Given the description of an element on the screen output the (x, y) to click on. 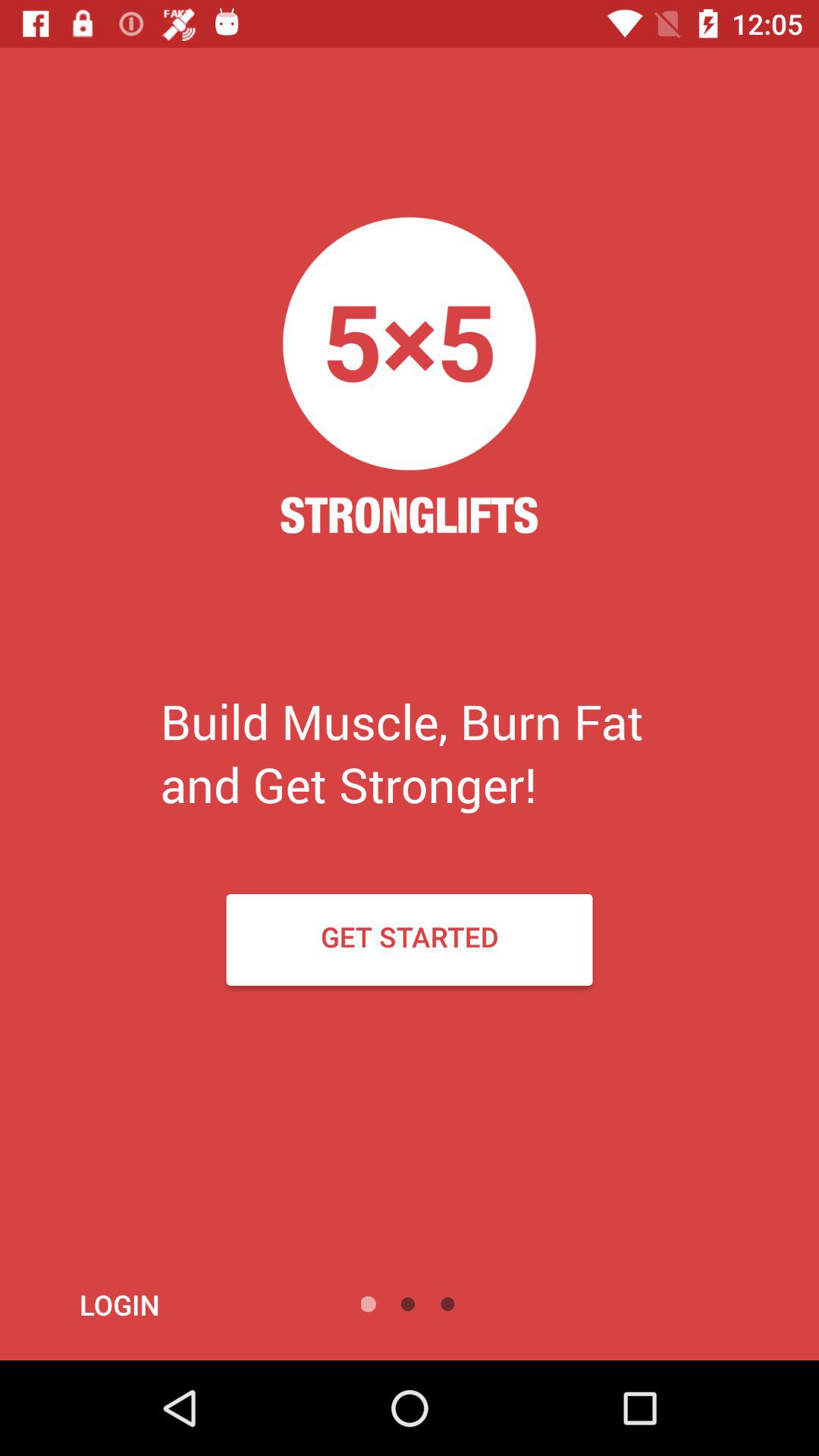
tap get started item (409, 939)
